Given the description of an element on the screen output the (x, y) to click on. 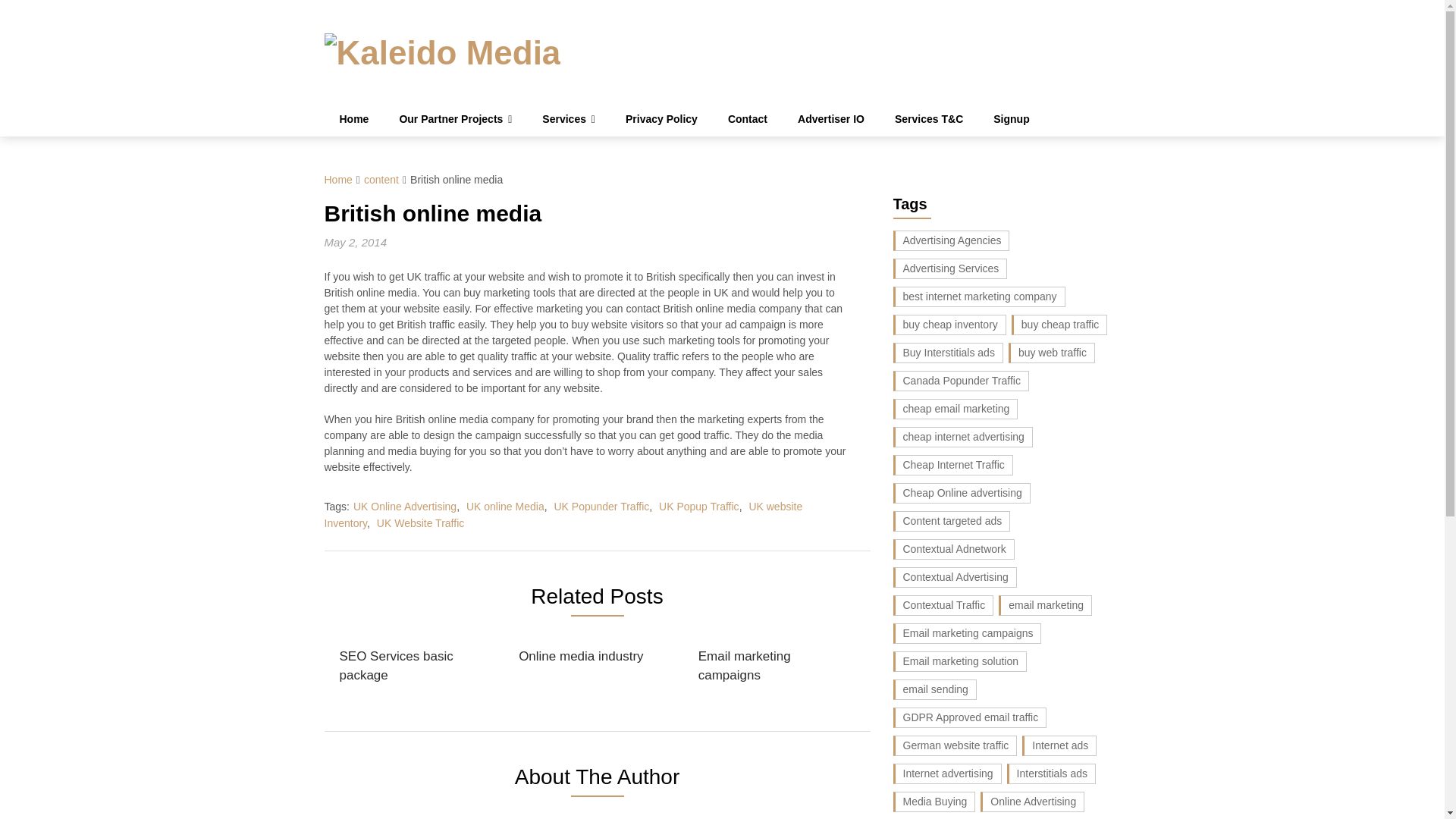
Home (354, 119)
buy cheap traffic (1058, 324)
Buy Interstitials ads (948, 353)
buy cheap inventory (949, 324)
Signup (1010, 119)
UK online Media (504, 506)
content (381, 179)
Email marketing campaigns (774, 665)
Online media industry (580, 656)
Our Partner Projects (455, 119)
